Given the description of an element on the screen output the (x, y) to click on. 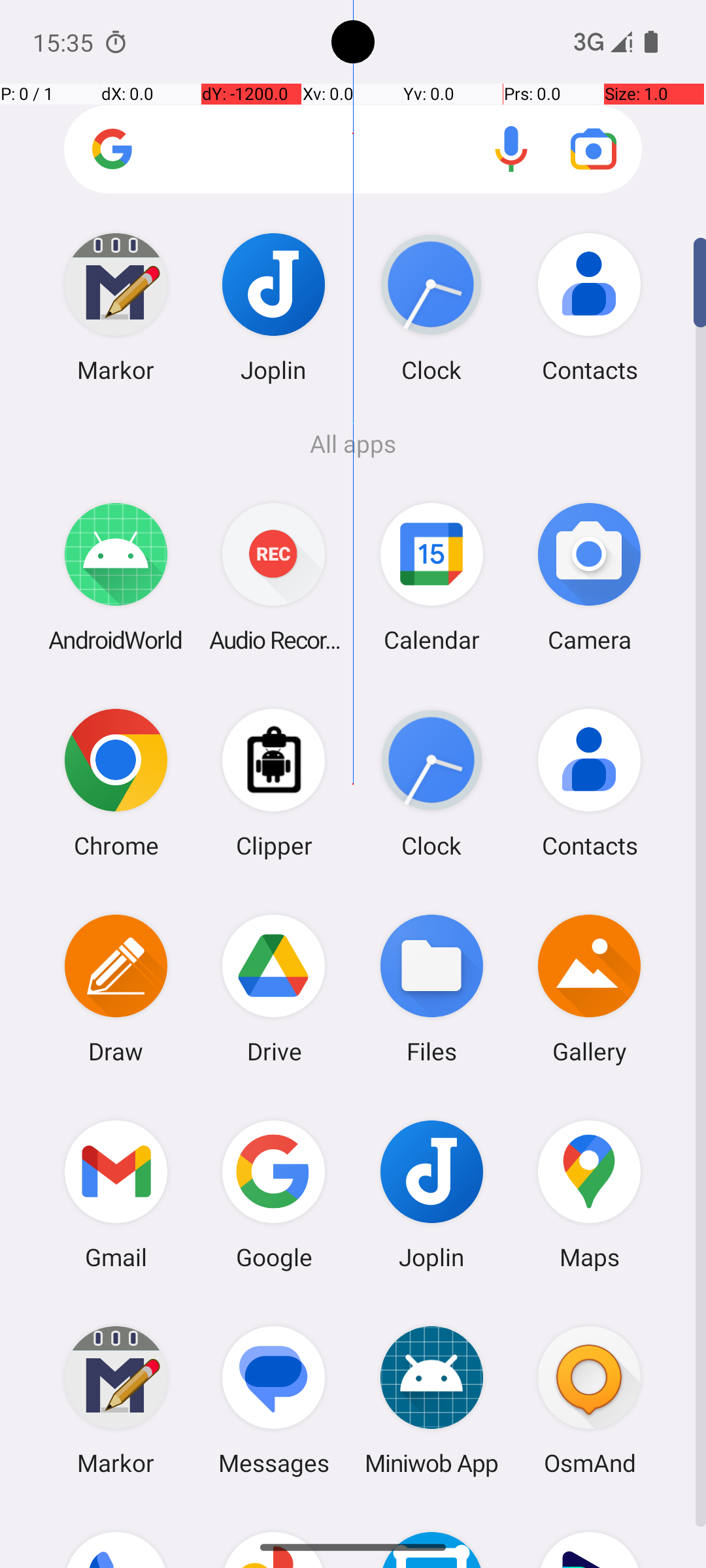
Search apps, web and more Element type: android.widget.EditText (352, 148)
Clipper Element type: android.widget.TextView (273, 782)
Maps Element type: android.widget.TextView (589, 1193)
Miniwob App Element type: android.widget.TextView (431, 1399)
